Given the description of an element on the screen output the (x, y) to click on. 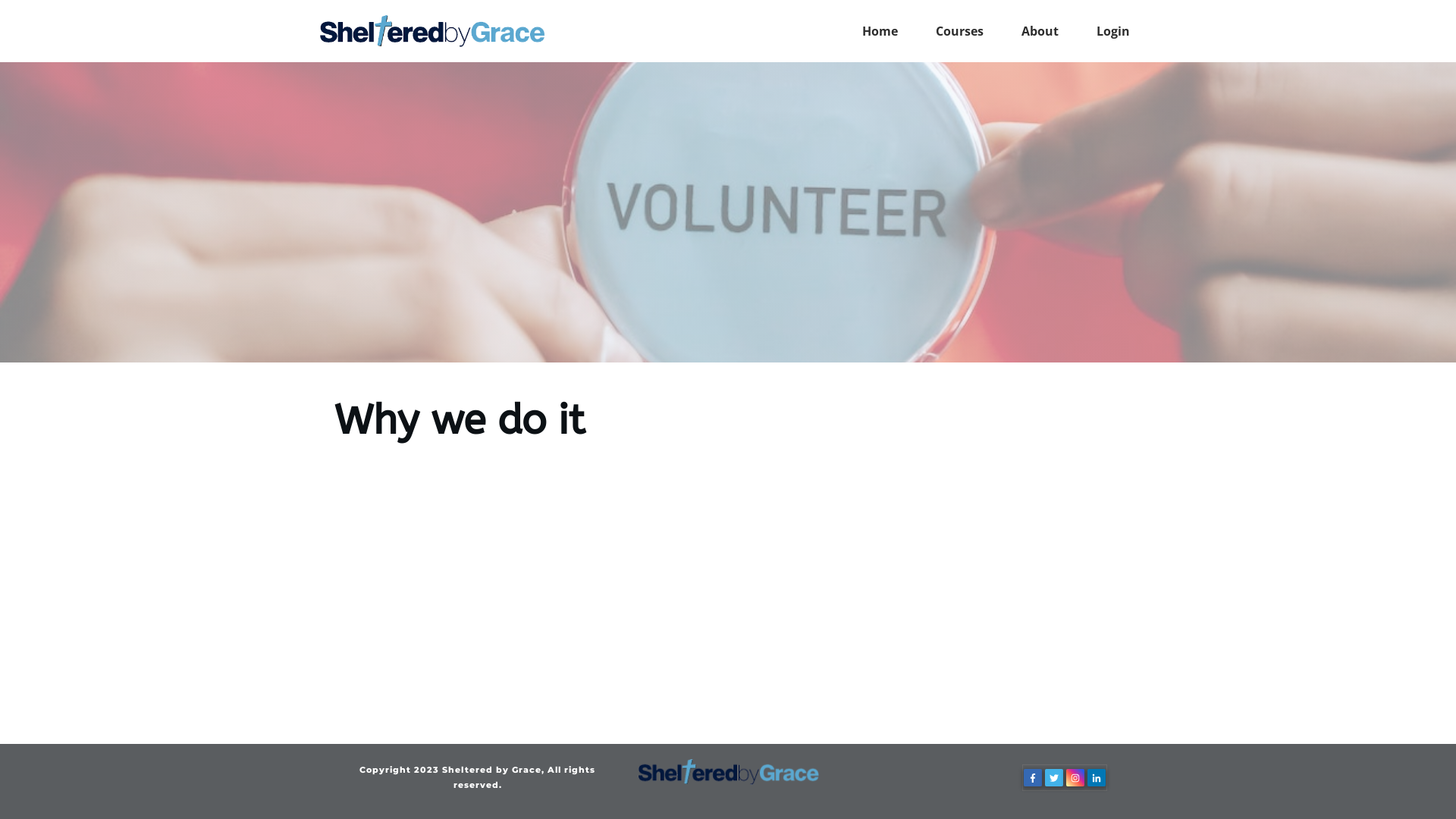
Home Element type: text (879, 30)
Courses Element type: text (959, 30)
Login Element type: text (1112, 30)
About Element type: text (1039, 30)
